Given the description of an element on the screen output the (x, y) to click on. 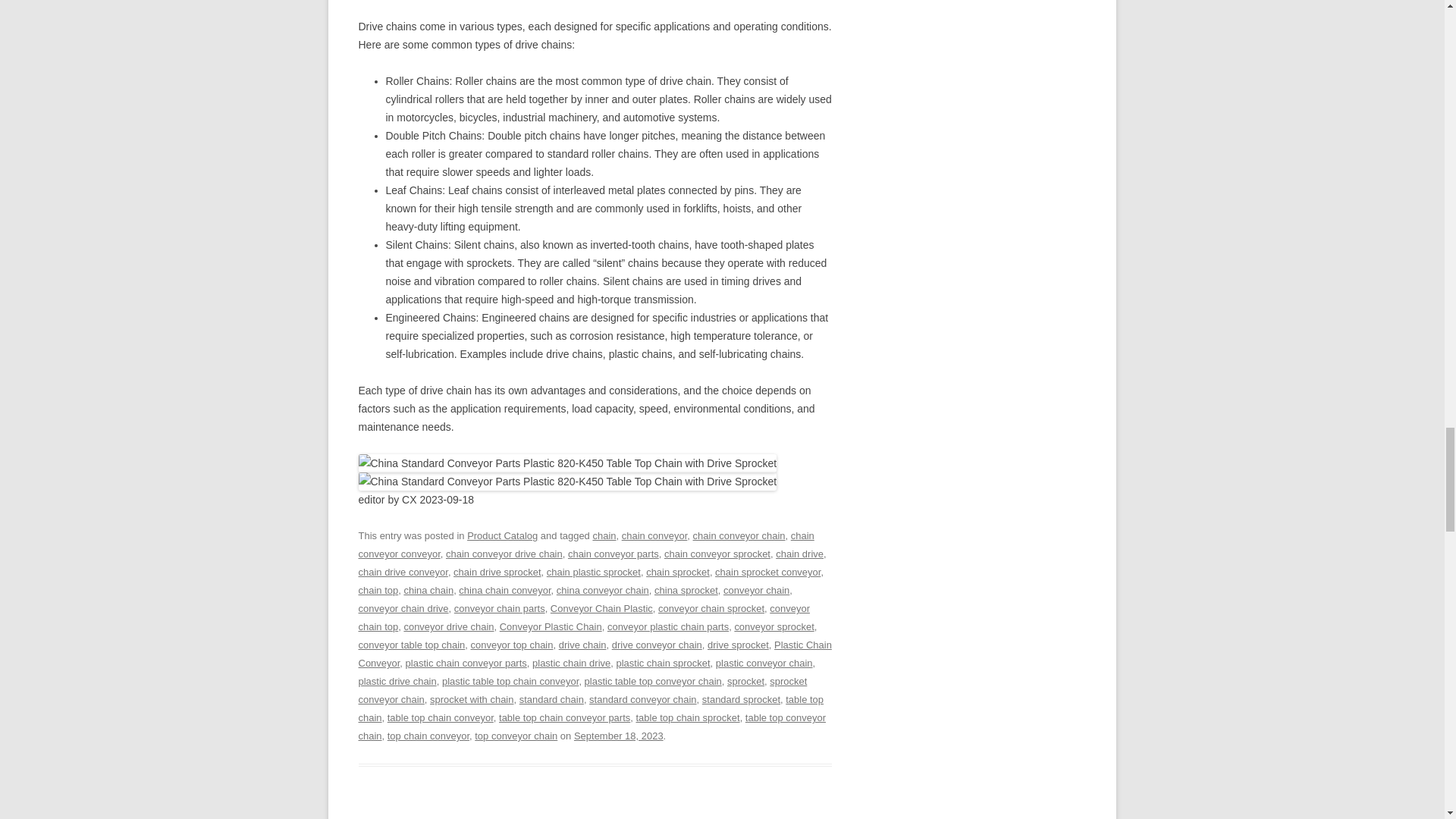
china chain (427, 590)
chain sprocket (678, 572)
chain plastic sprocket (593, 572)
china conveyor chain (602, 590)
chain (603, 535)
drive conveyor chain (656, 644)
conveyor chain sprocket (711, 608)
chain drive conveyor (402, 572)
Conveyor Plastic Chain (550, 626)
chain conveyor chain (739, 535)
chain conveyor conveyor (585, 544)
chain conveyor (654, 535)
conveyor table top chain (411, 644)
Product Catalog (502, 535)
conveyor top chain (511, 644)
